Given the description of an element on the screen output the (x, y) to click on. 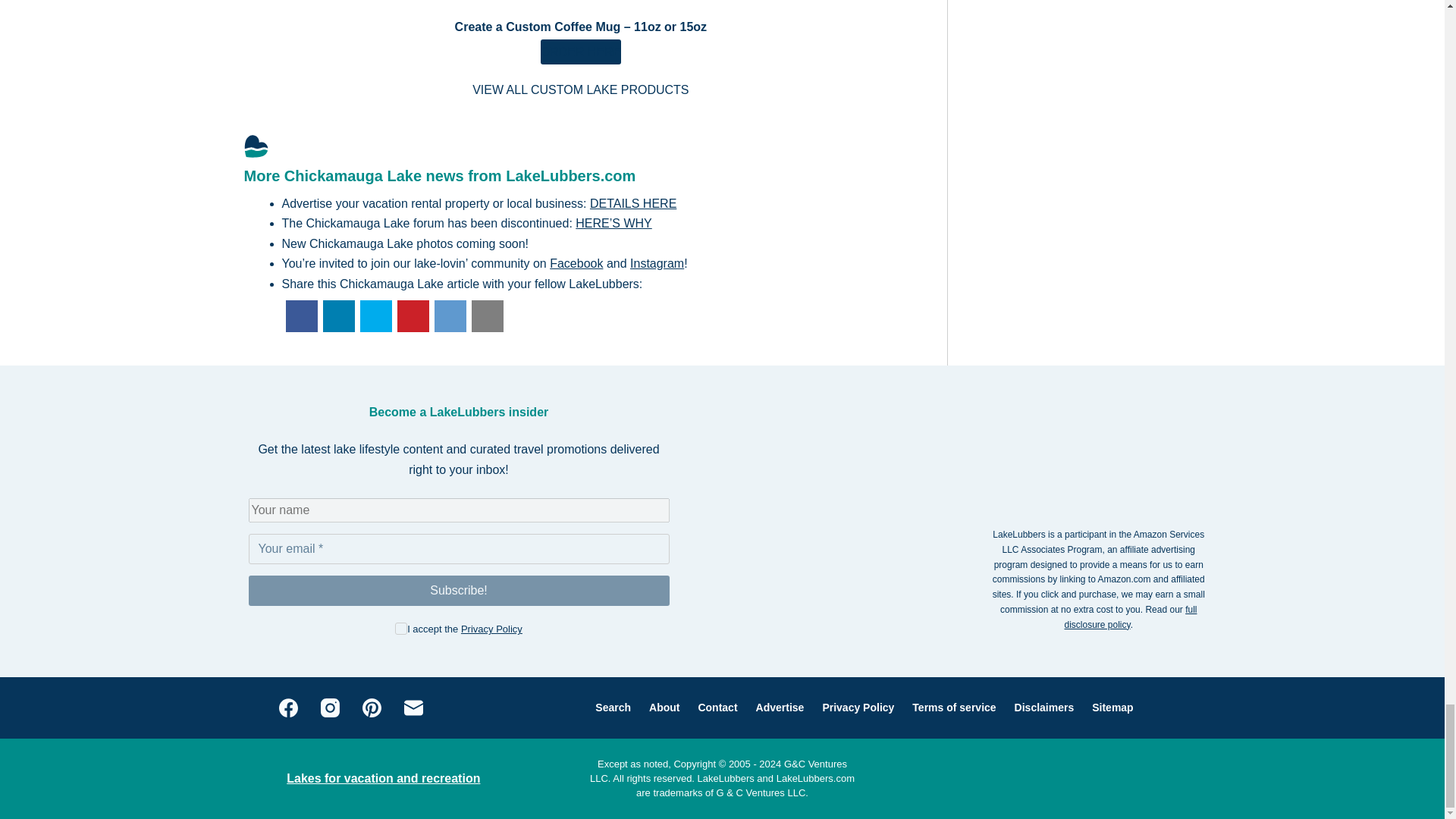
Name (458, 509)
Custom Lake Coffee Mug - On Lake Time (580, 51)
Custom Lake Products (579, 89)
on (400, 628)
Email (458, 548)
